Given the description of an element on the screen output the (x, y) to click on. 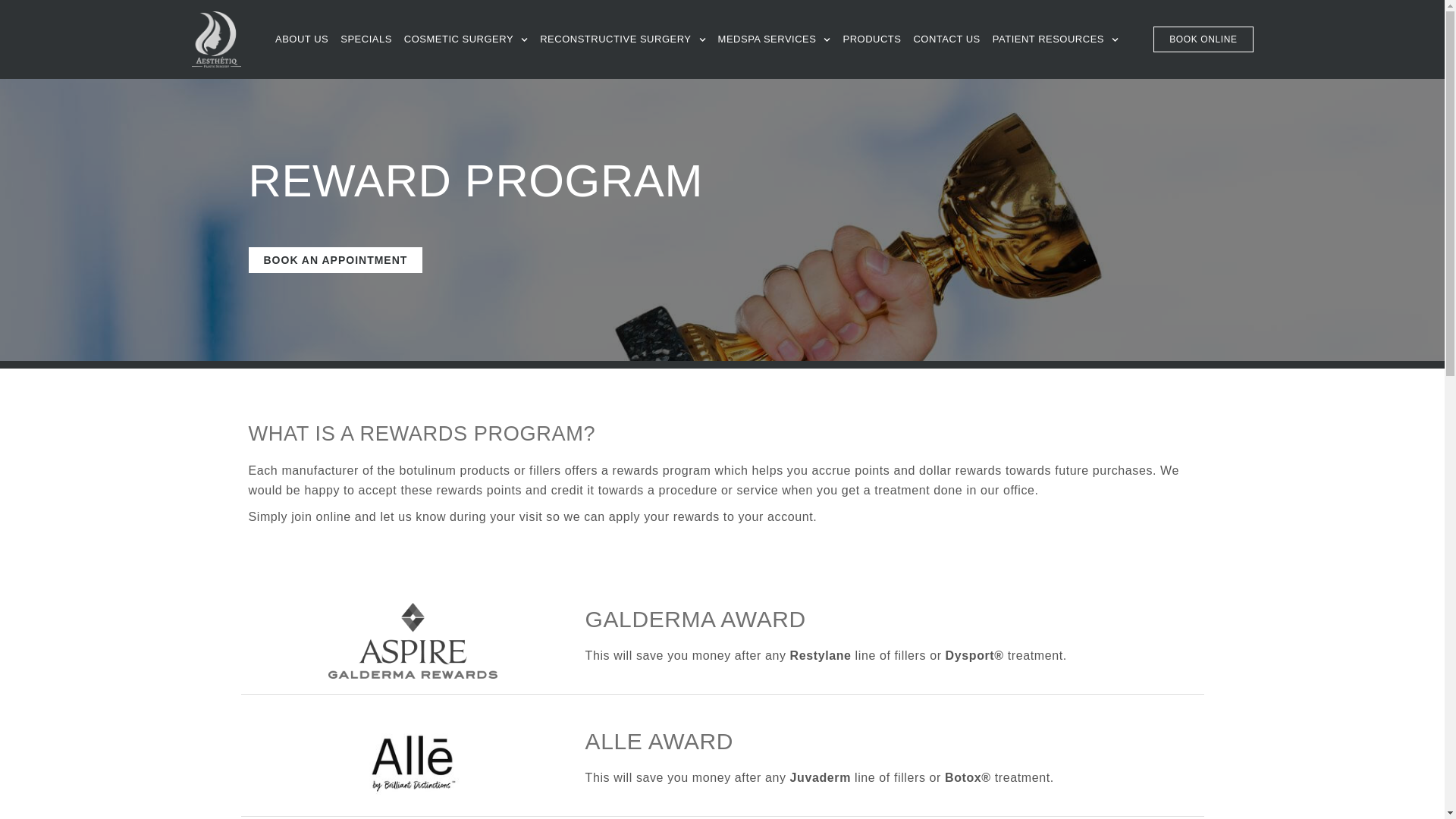
SPECIALS (365, 39)
ABOUT US (301, 39)
MEDSPA SERVICES (774, 39)
RECONSTRUCTIVE SURGERY (622, 39)
COSMETIC SURGERY (465, 39)
